Given the description of an element on the screen output the (x, y) to click on. 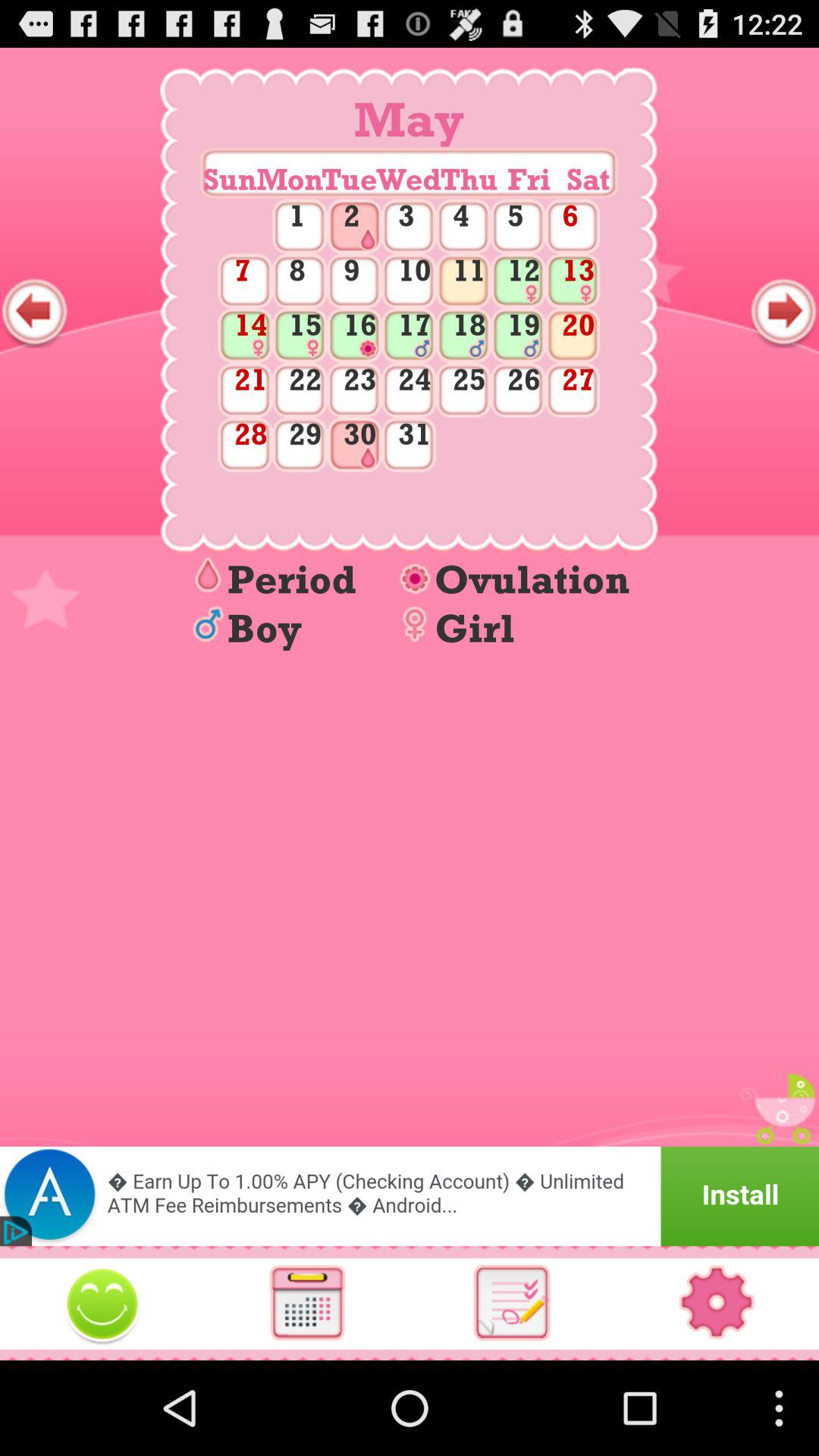
go to settings (716, 1302)
